Given the description of an element on the screen output the (x, y) to click on. 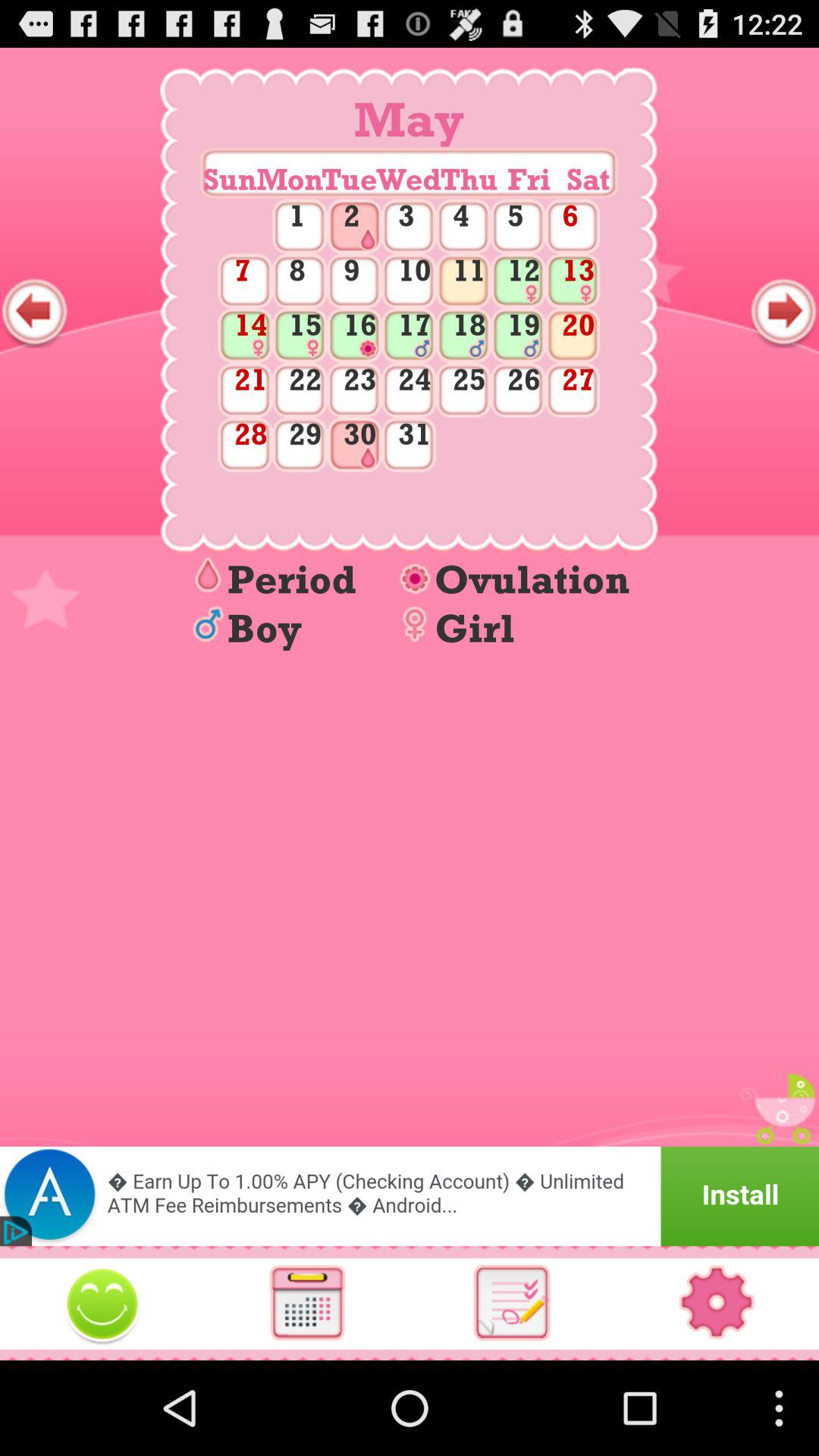
go to settings (716, 1302)
